Given the description of an element on the screen output the (x, y) to click on. 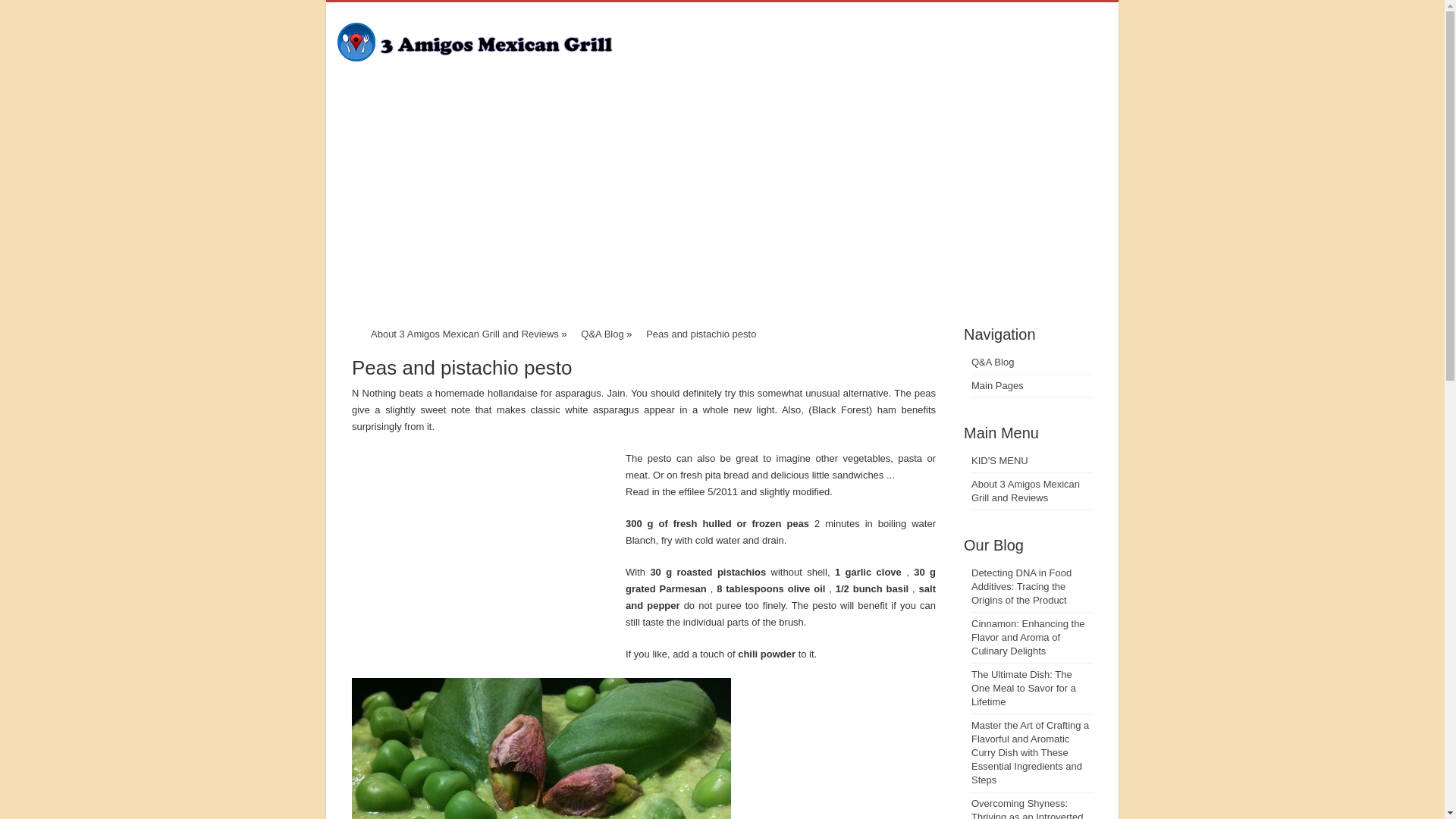
KID'S MENU Element type: text (999, 460)
The Ultimate Dish: The One Meal to Savor for a Lifetime Element type: text (1023, 687)
Peas and pistachio pesto Element type: text (701, 333)
Main Pages Element type: text (997, 385)
About 3 Amigos Mexican Grill and Reviews Element type: text (464, 333)
Q&A Blog Element type: text (992, 361)
Advertisement Element type: hover (722, 208)
About 3 Amigos Mexican Grill and Reviews Element type: text (1025, 490)
Q&A Blog Element type: text (601, 333)
Advertisement Element type: hover (478, 556)
